Given the description of an element on the screen output the (x, y) to click on. 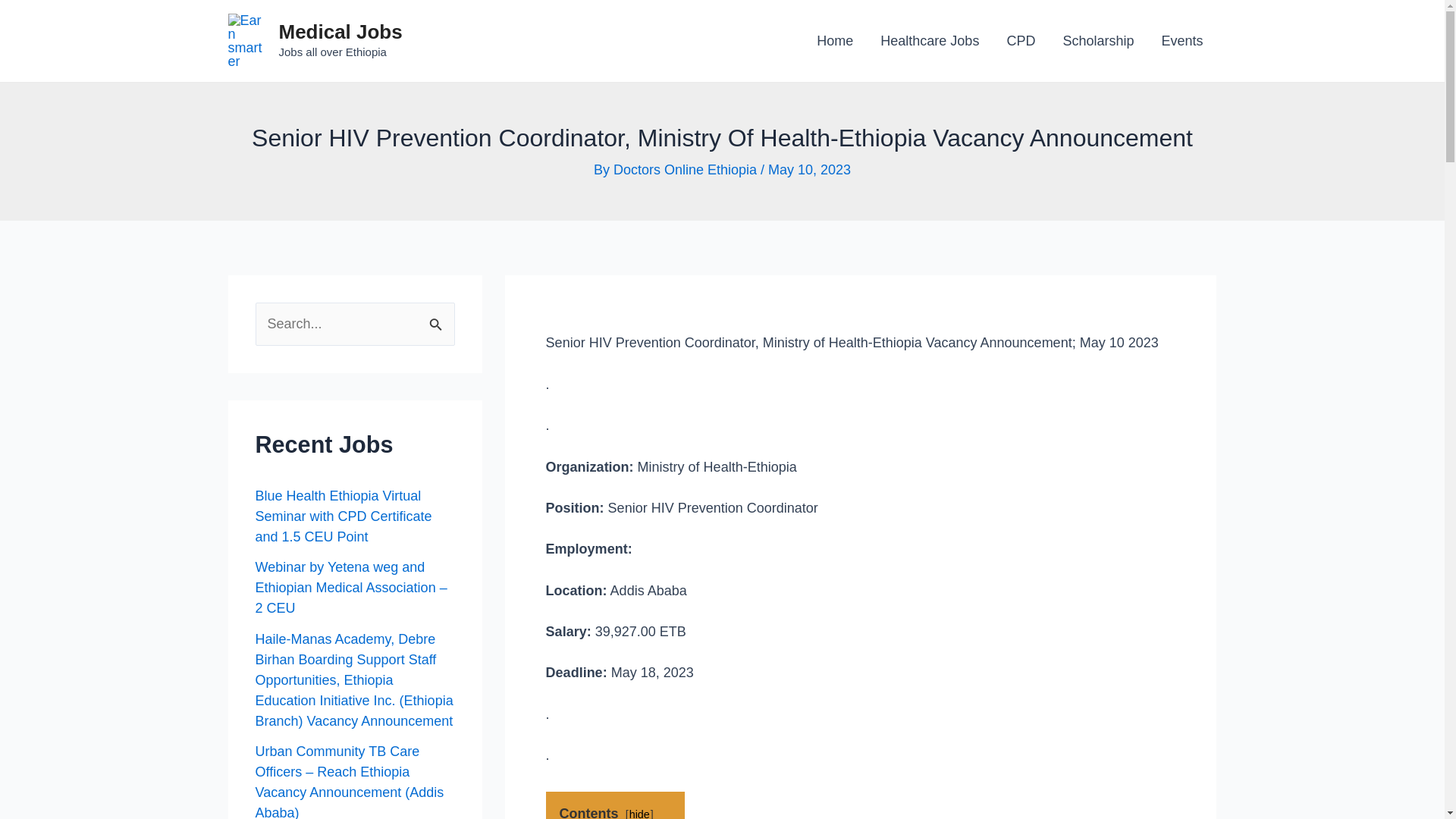
Scholarship (1097, 40)
View all posts by Doctors Online Ethiopia (684, 169)
Events (1181, 40)
Doctors Online Ethiopia (684, 169)
CPD (1020, 40)
Search (437, 318)
Home (834, 40)
Search (437, 318)
Medical Jobs (341, 31)
Search (437, 318)
Healthcare Jobs (929, 40)
